Given the description of an element on the screen output the (x, y) to click on. 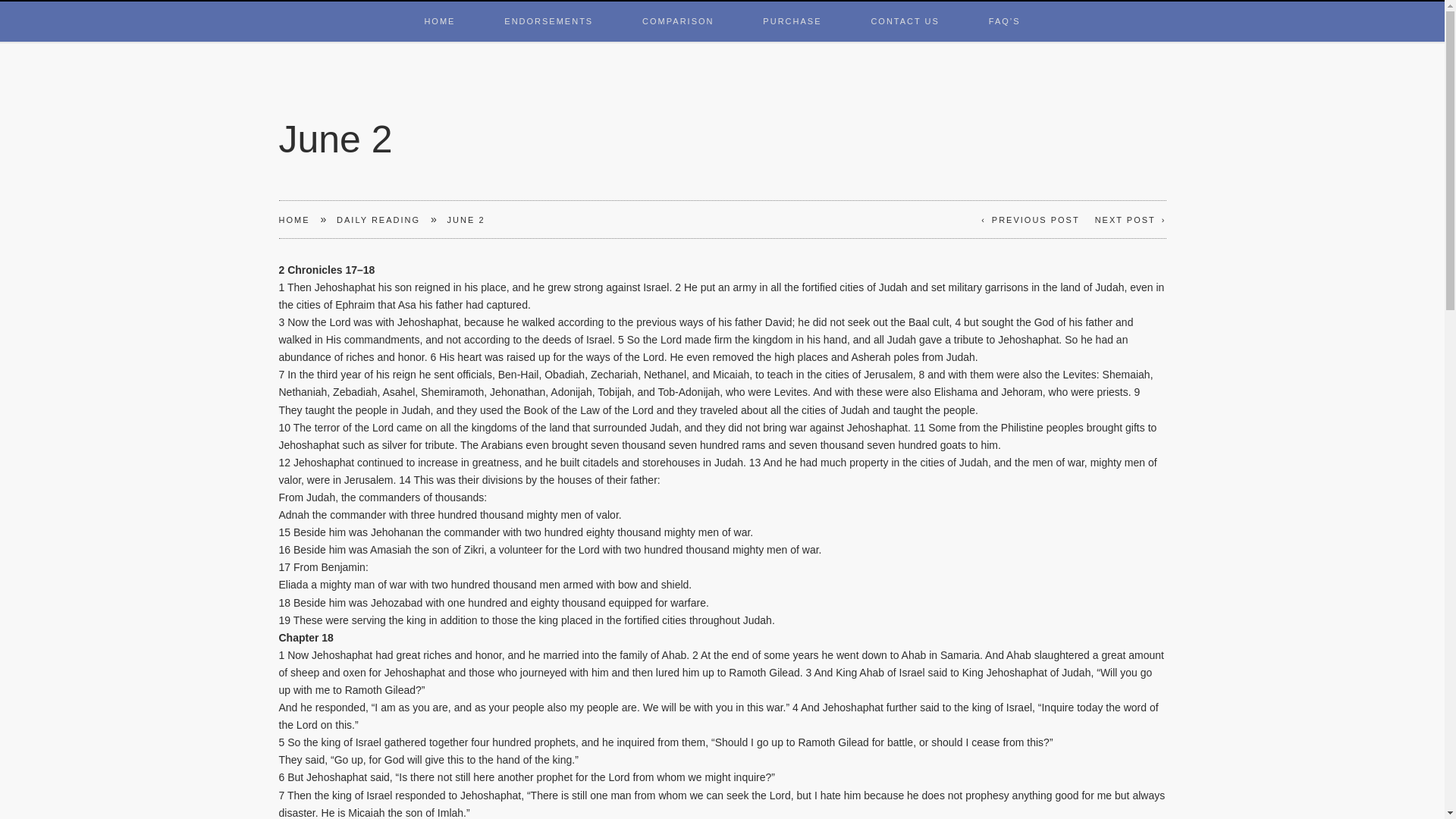
HOME (438, 5)
COMPARISON (677, 5)
PURCHASE (791, 5)
DAILY READING (378, 219)
ENDORSEMENTS (547, 5)
CONTACT US (904, 5)
PREVIOUS POST (1030, 219)
NEXT POST (1130, 219)
